Given the description of an element on the screen output the (x, y) to click on. 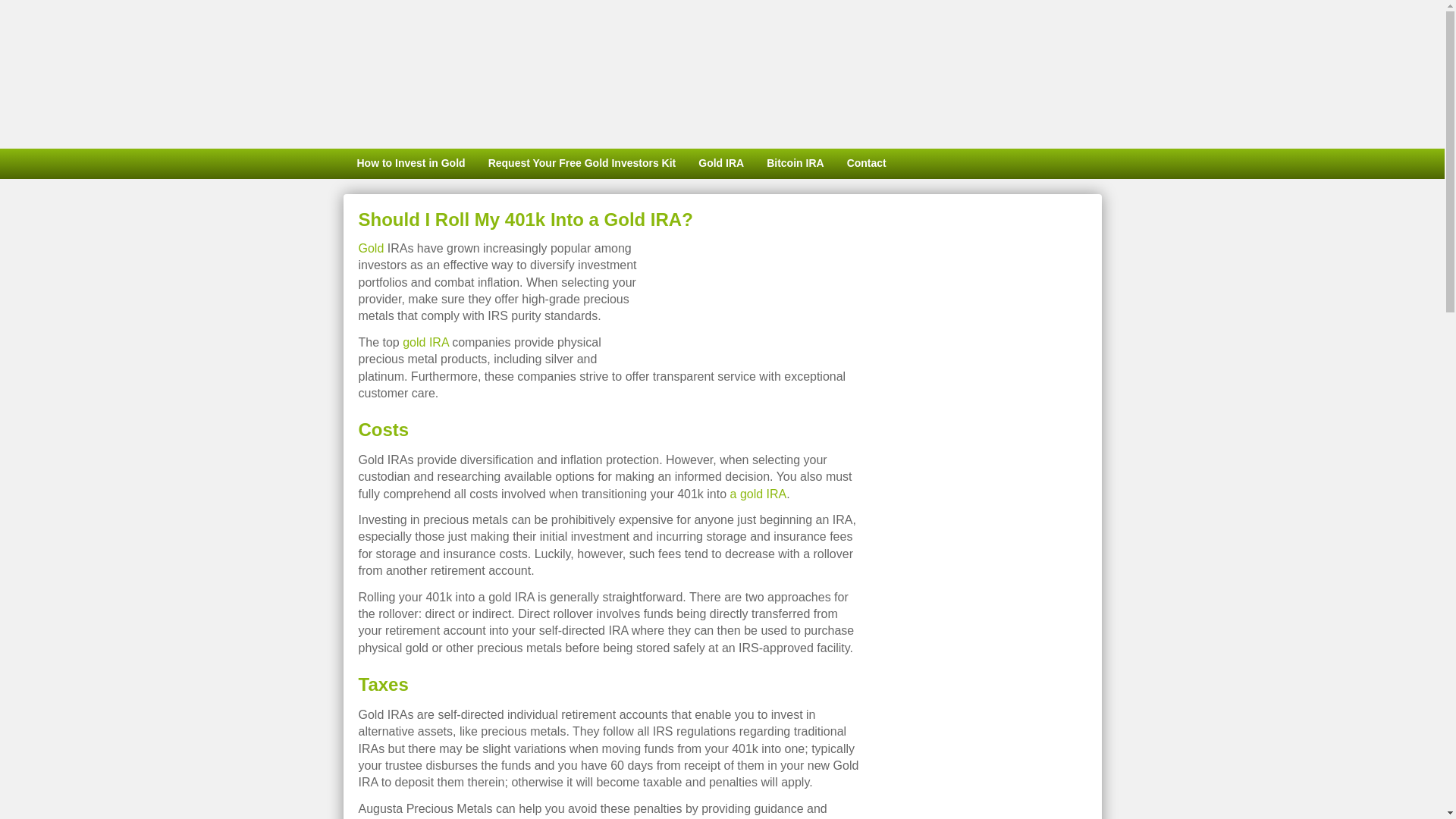
gold IRA (425, 341)
Contact (866, 163)
Gold (371, 247)
Gold IRA (721, 163)
How to Invest in Gold (409, 163)
Bitcoin IRA (794, 163)
Request Your Free Gold Investors Kit (582, 163)
a gold IRA (758, 493)
